Given the description of an element on the screen output the (x, y) to click on. 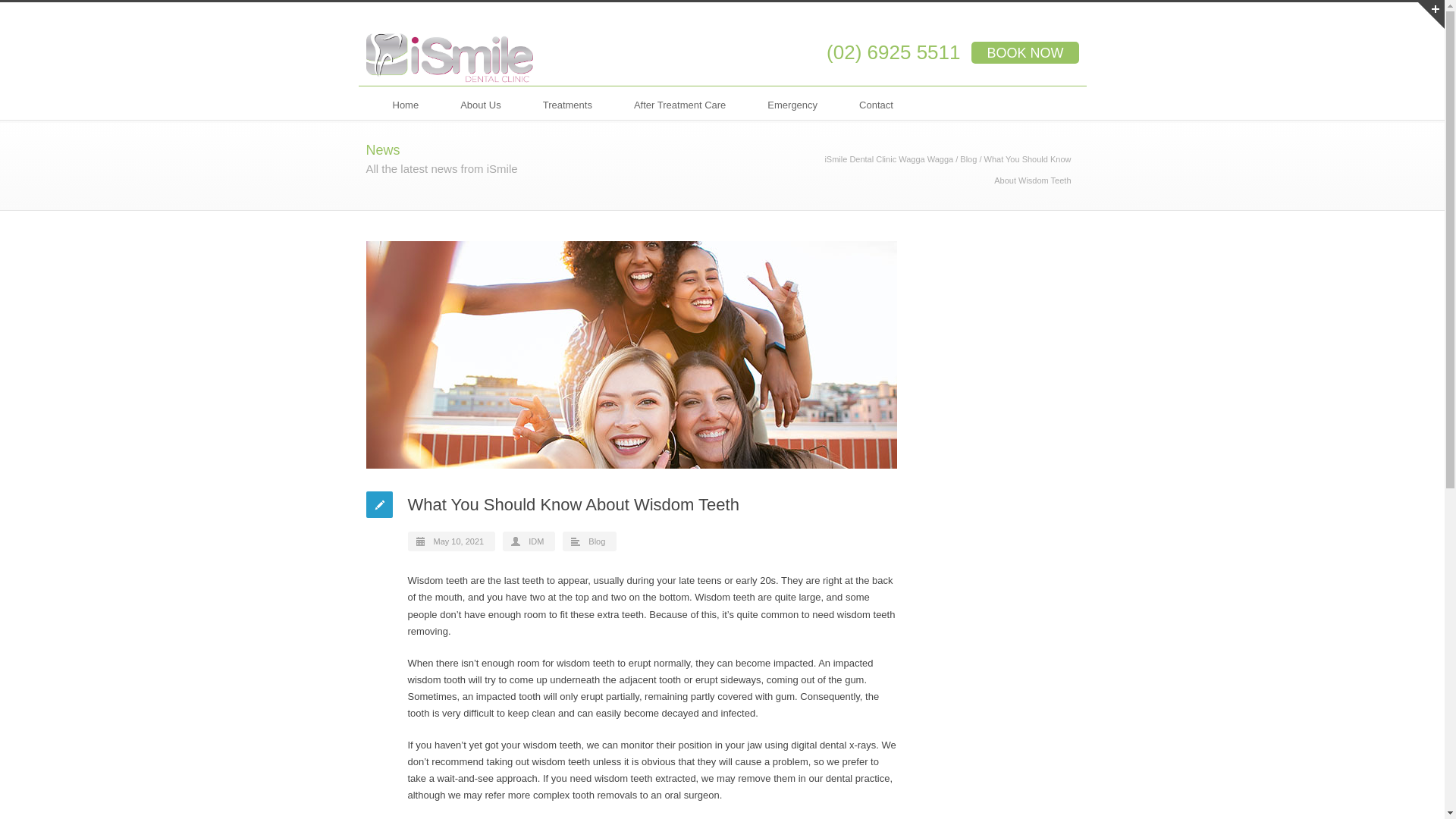
About Us (480, 102)
After Treatment Care (679, 102)
What You Should Know About Wisdom Teeth (630, 354)
Treatments (567, 102)
Home (405, 102)
BOOK NOW (1024, 52)
Emergency (792, 102)
